Given the description of an element on the screen output the (x, y) to click on. 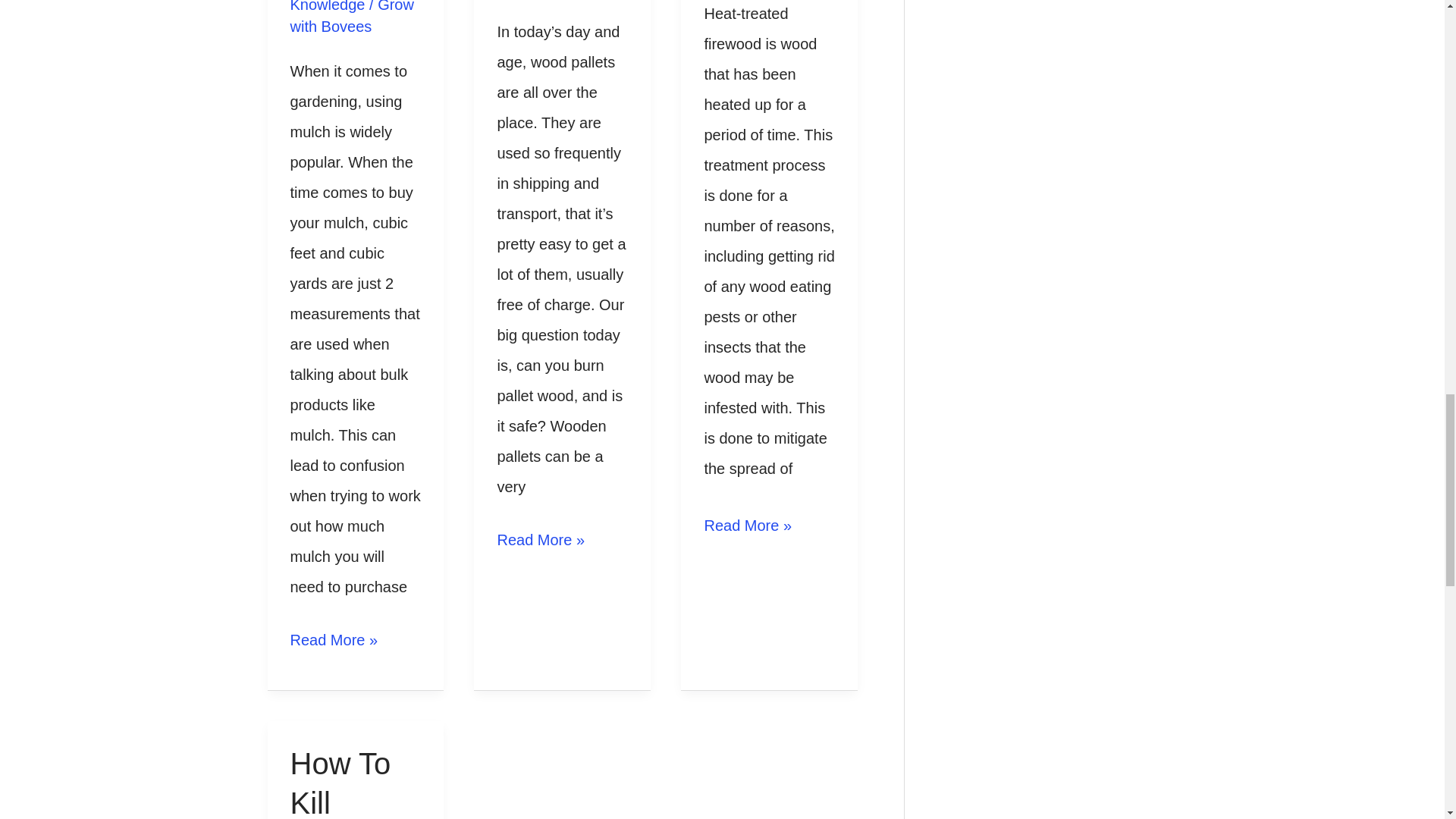
Grow with Bovees (351, 17)
Knowledge (327, 6)
View all posts by Grow with Bovees (351, 17)
